Given the description of an element on the screen output the (x, y) to click on. 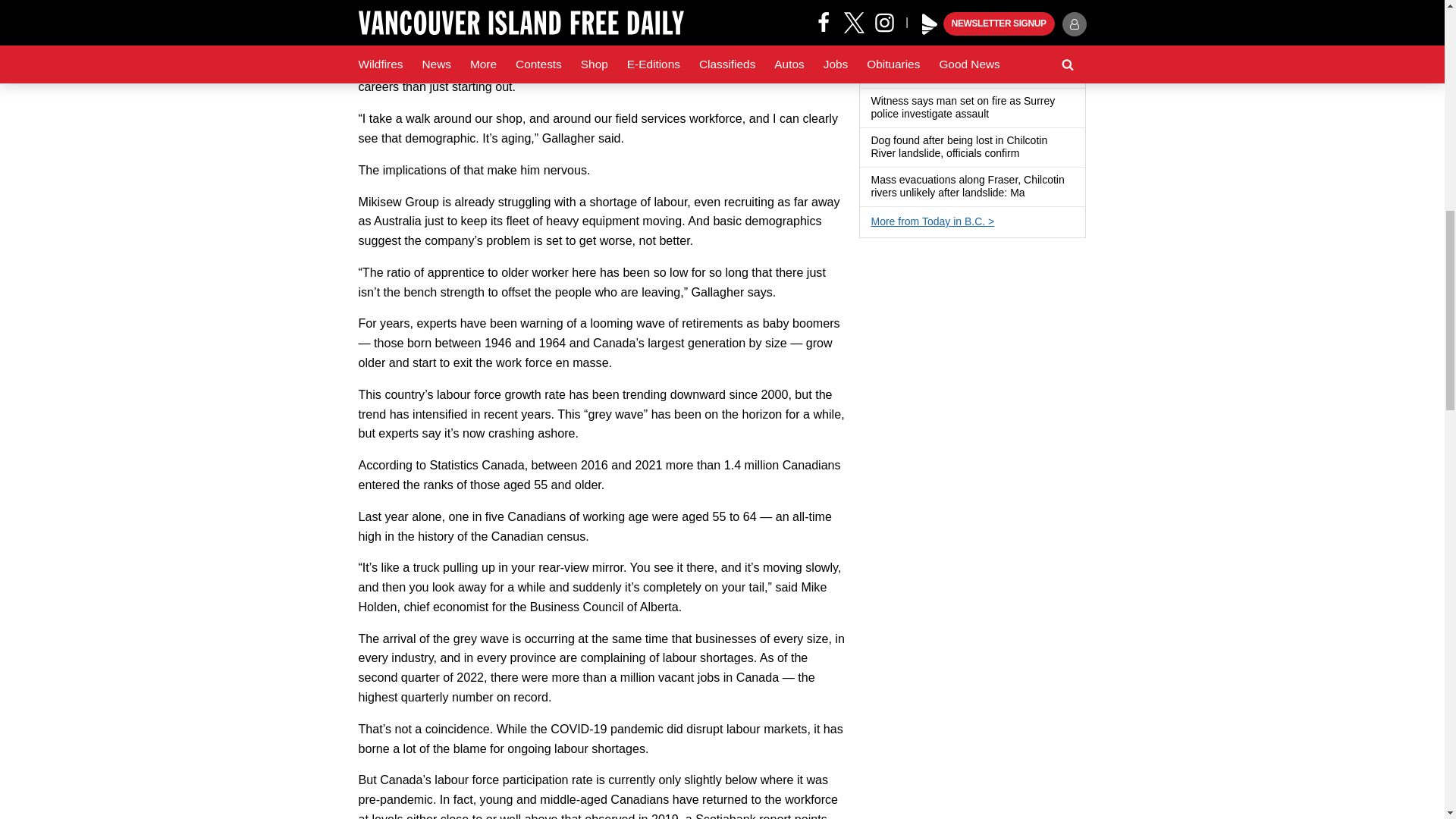
Has a gallery (997, 114)
Has a gallery (1027, 153)
